Given the description of an element on the screen output the (x, y) to click on. 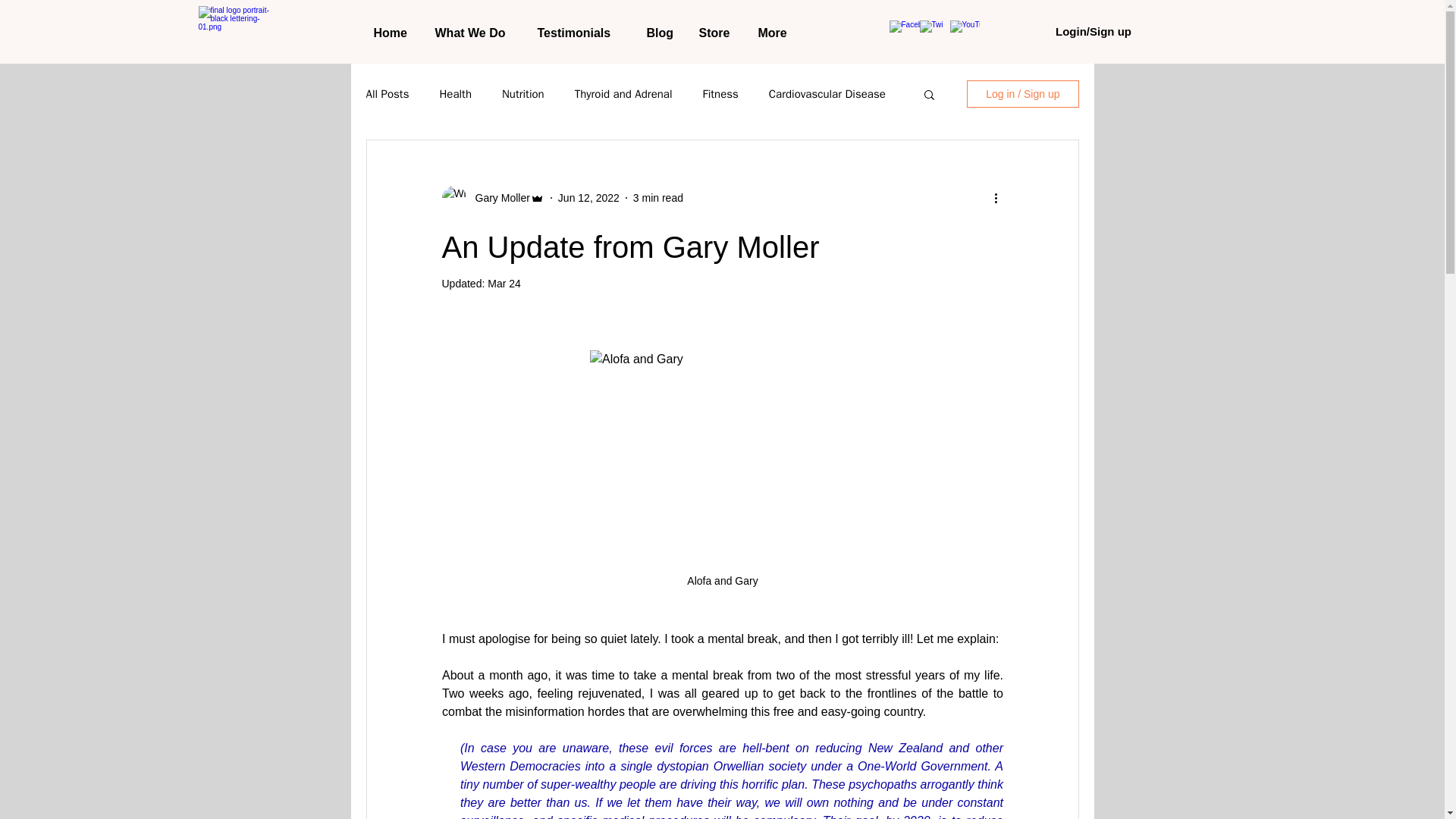
3 min read (657, 196)
Fitness (719, 93)
Cardiovascular Disease (826, 93)
Blog (660, 33)
Testimonials (579, 33)
Health (455, 93)
Thyroid and Adrenal (623, 93)
All Posts (387, 93)
Store (716, 33)
Gary Moller - Functional Nutrition Consultant (240, 32)
What We Do (474, 33)
Home (392, 33)
Jun 12, 2022 (588, 196)
Nutrition (523, 93)
Mar 24 (504, 283)
